Given the description of an element on the screen output the (x, y) to click on. 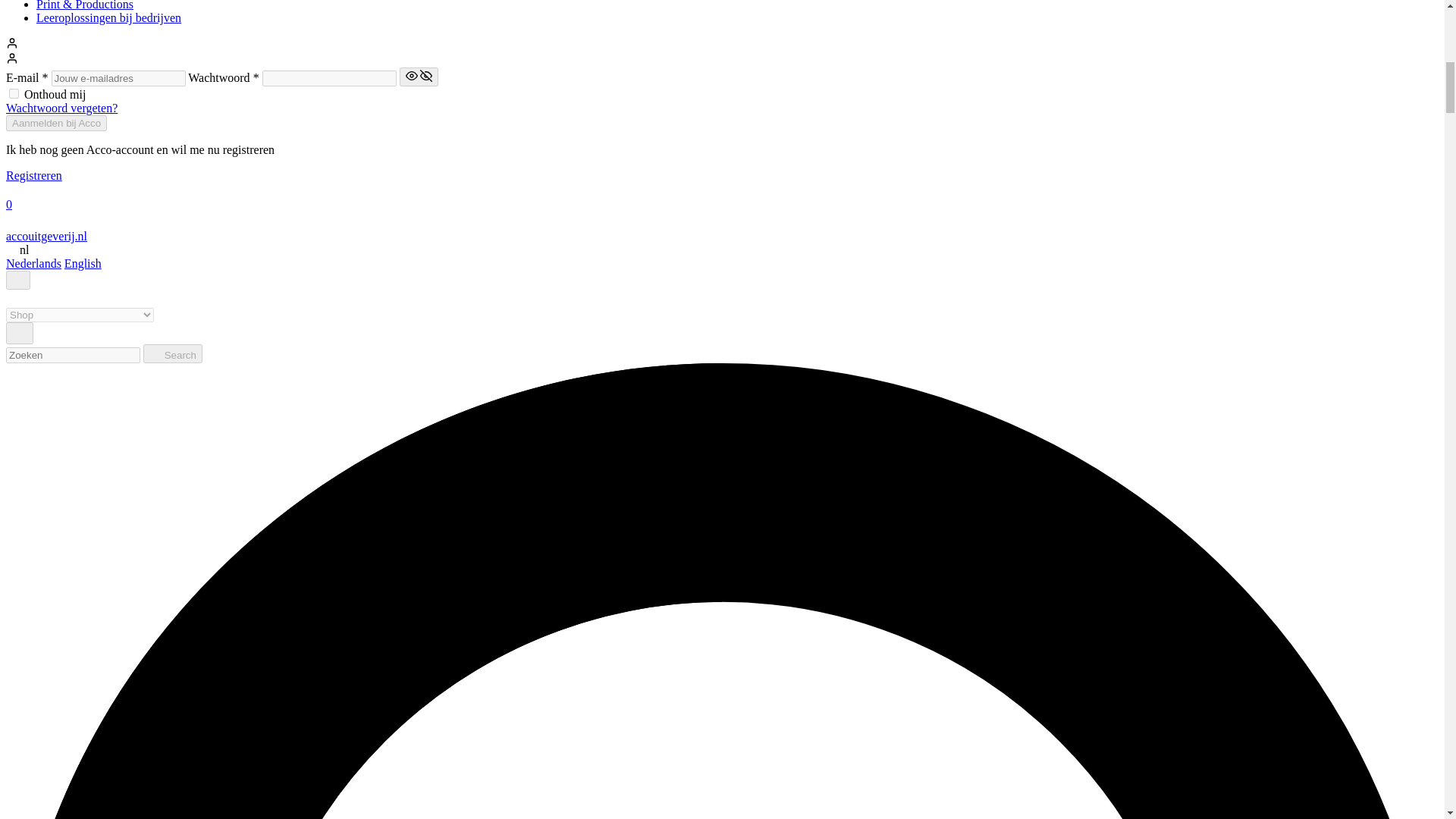
Search (172, 353)
Nederlands (33, 263)
Aanmelden bij Acco (55, 123)
Wachtwoord vergeten? (61, 107)
Registreren (33, 174)
English (82, 263)
accouitgeverij.nl (46, 236)
on (13, 93)
